Given the description of an element on the screen output the (x, y) to click on. 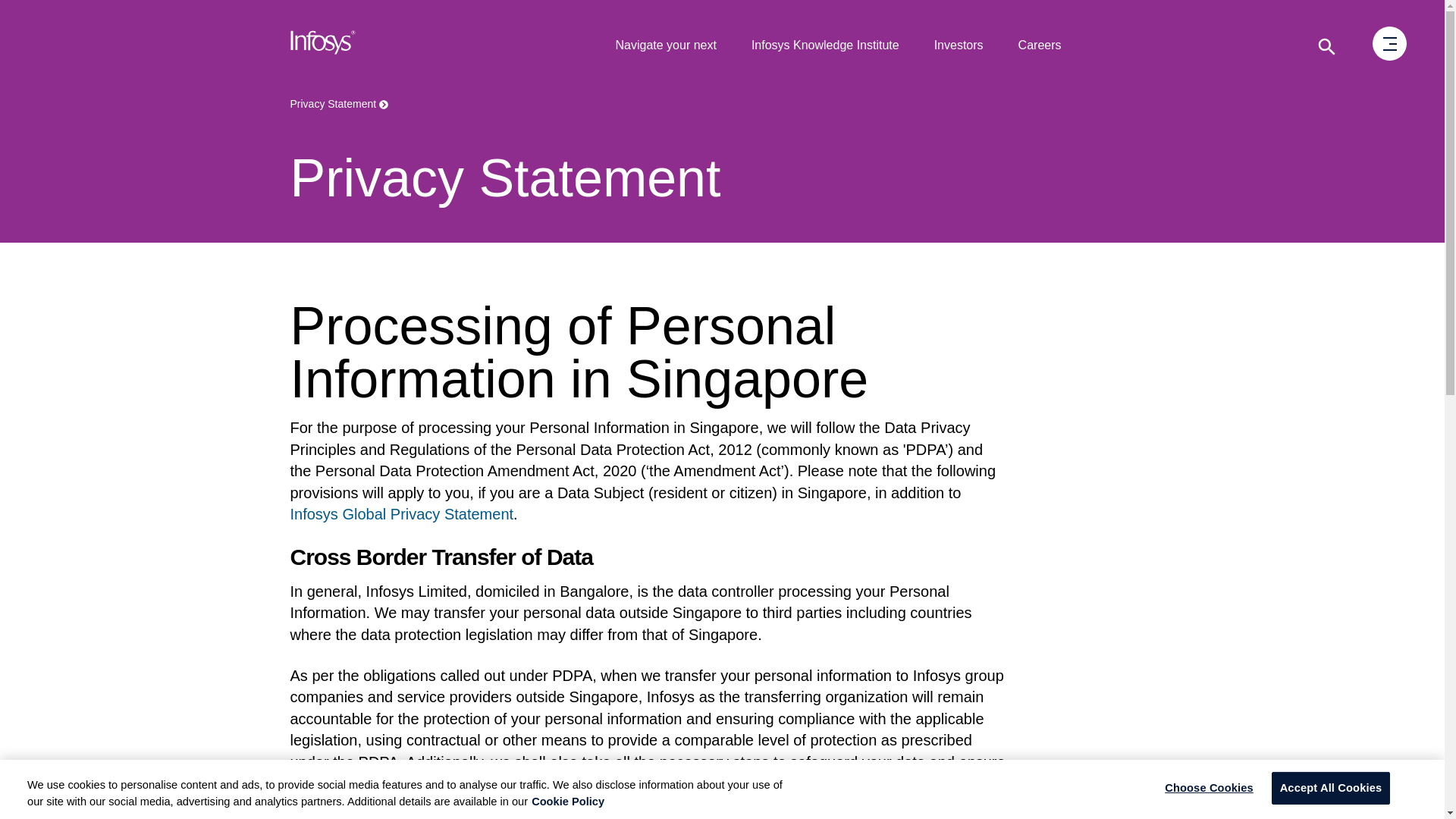
Investors (958, 45)
Go to Infosys Home (322, 45)
Navigate your next (665, 45)
Infosys Knowledge Institute (825, 45)
Infosys Knowledge Institute Business and Technology Trends (825, 45)
Careers (1040, 45)
Investor Relations (958, 45)
Navigate your next digital framework (665, 45)
Explore Careers Opportunities (1040, 45)
